Given the description of an element on the screen output the (x, y) to click on. 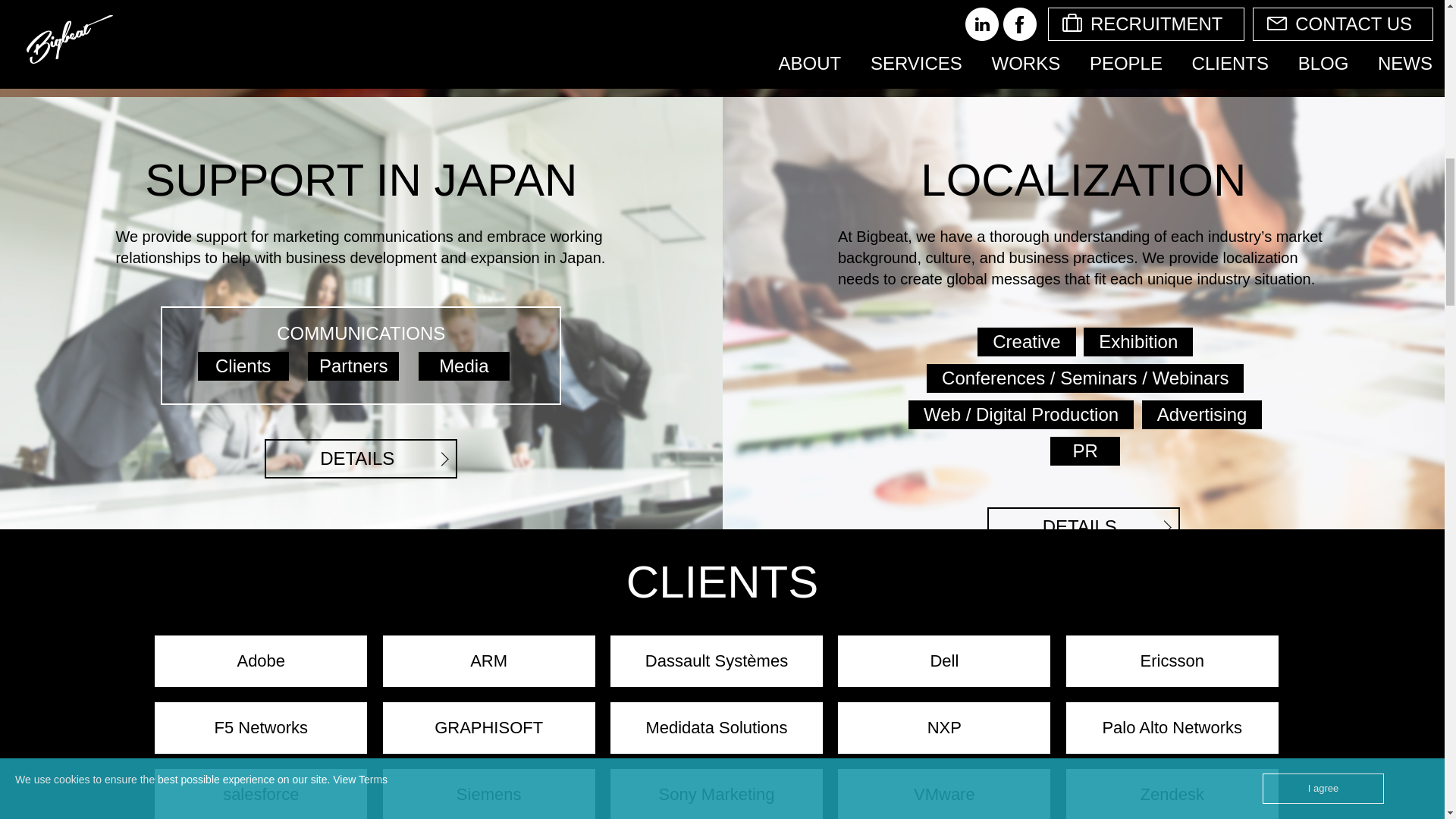
DETAILS (1083, 526)
DETAILS (360, 458)
DETAILS (1083, 526)
DETAILS (360, 458)
